Given the description of an element on the screen output the (x, y) to click on. 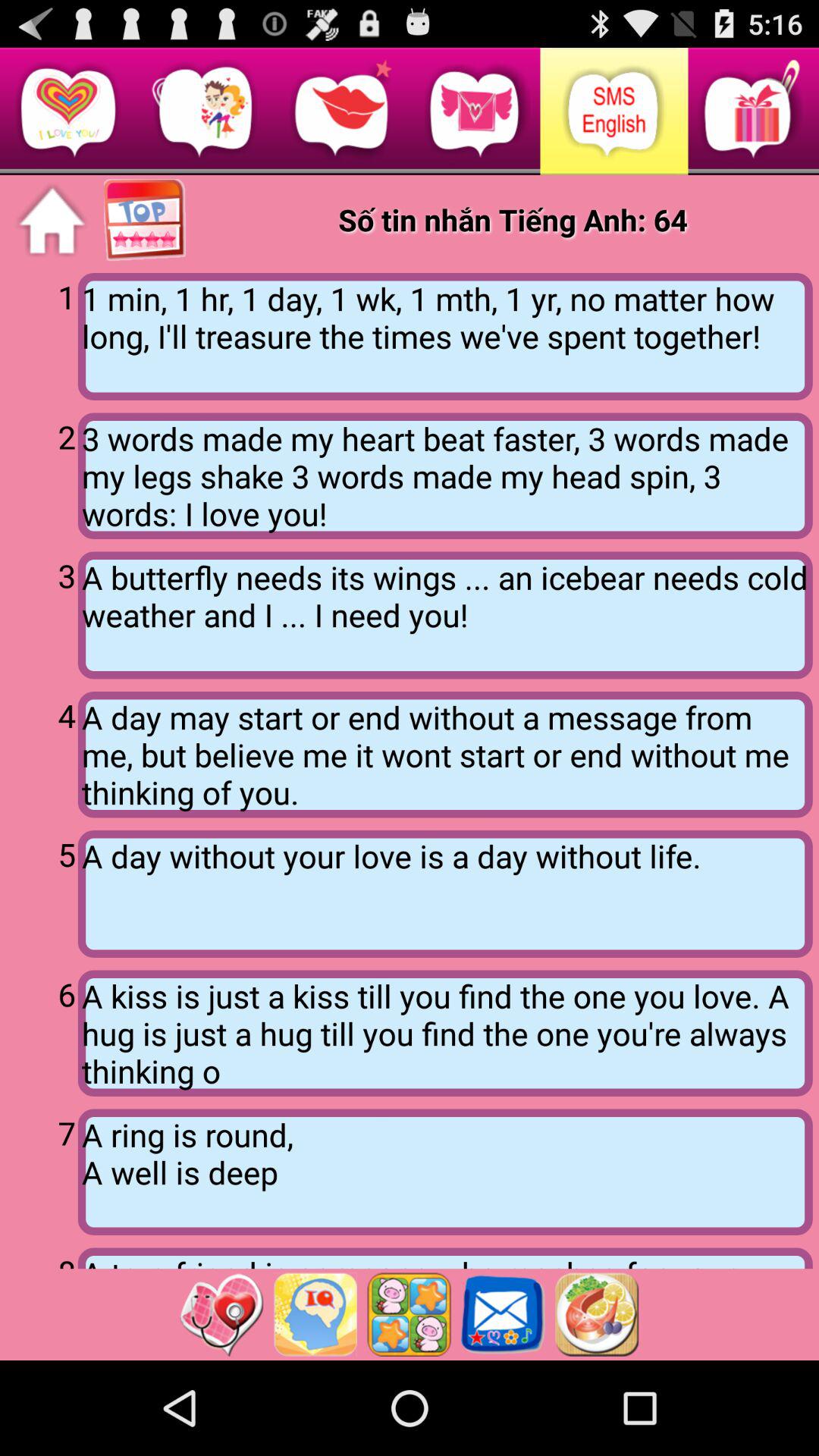
select this option (596, 1314)
